Given the description of an element on the screen output the (x, y) to click on. 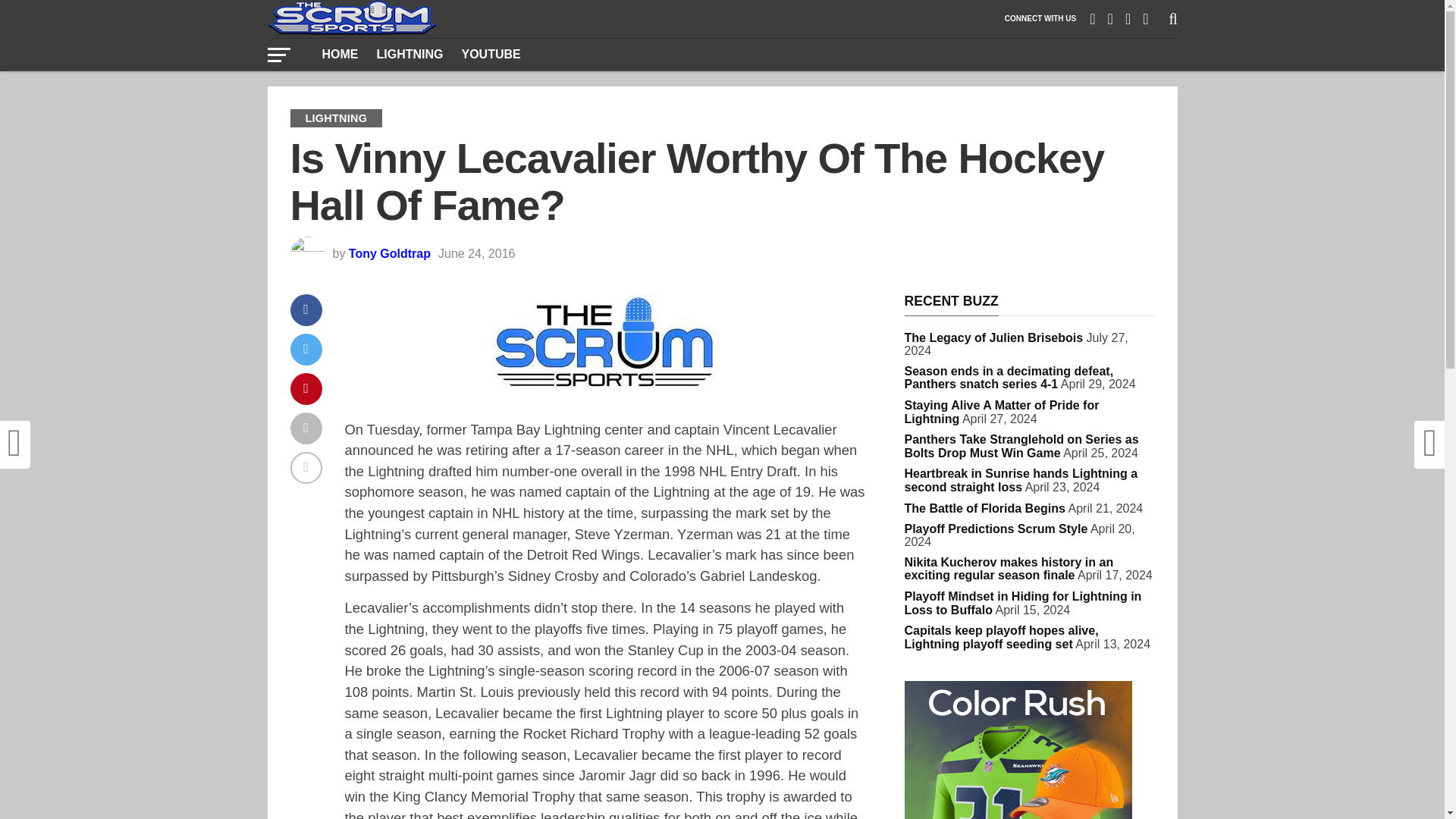
LIGHTNING (408, 54)
The Legacy of Julien Brisebois (993, 337)
Tony Goldtrap (389, 253)
HOME (339, 54)
YOUTUBE (490, 54)
Posts by Tony Goldtrap (389, 253)
Staying Alive A Matter of Pride for Lightning (1001, 411)
